Given the description of an element on the screen output the (x, y) to click on. 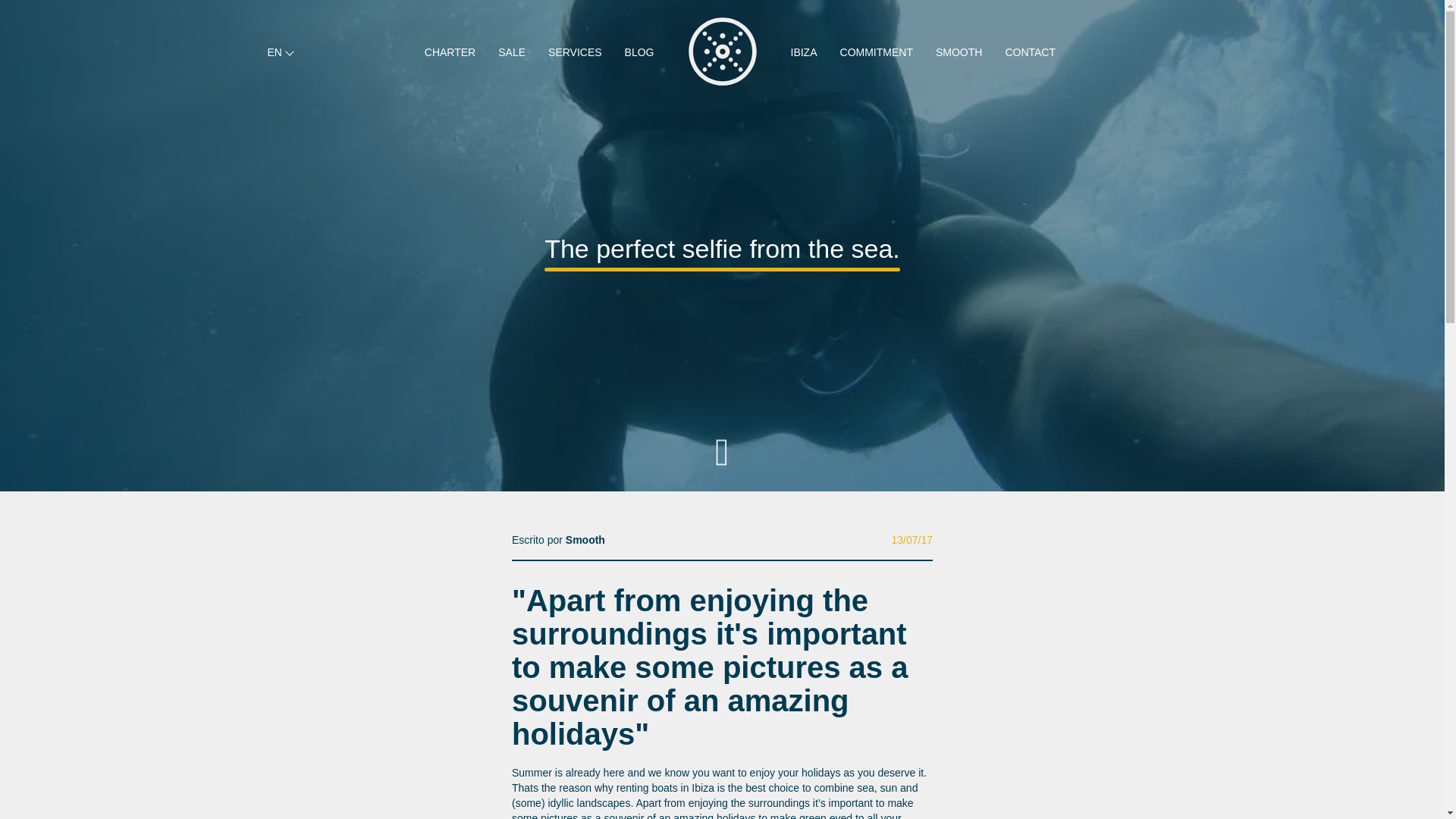
GO! (563, 708)
SMOOTH (958, 53)
Contact (55, 717)
BLOG (638, 53)
Our services (55, 690)
SERVICES (574, 53)
GALOPE BRAVO (779, 801)
SALE (511, 53)
CHARTER (449, 53)
COMMITMENT (876, 53)
